Given the description of an element on the screen output the (x, y) to click on. 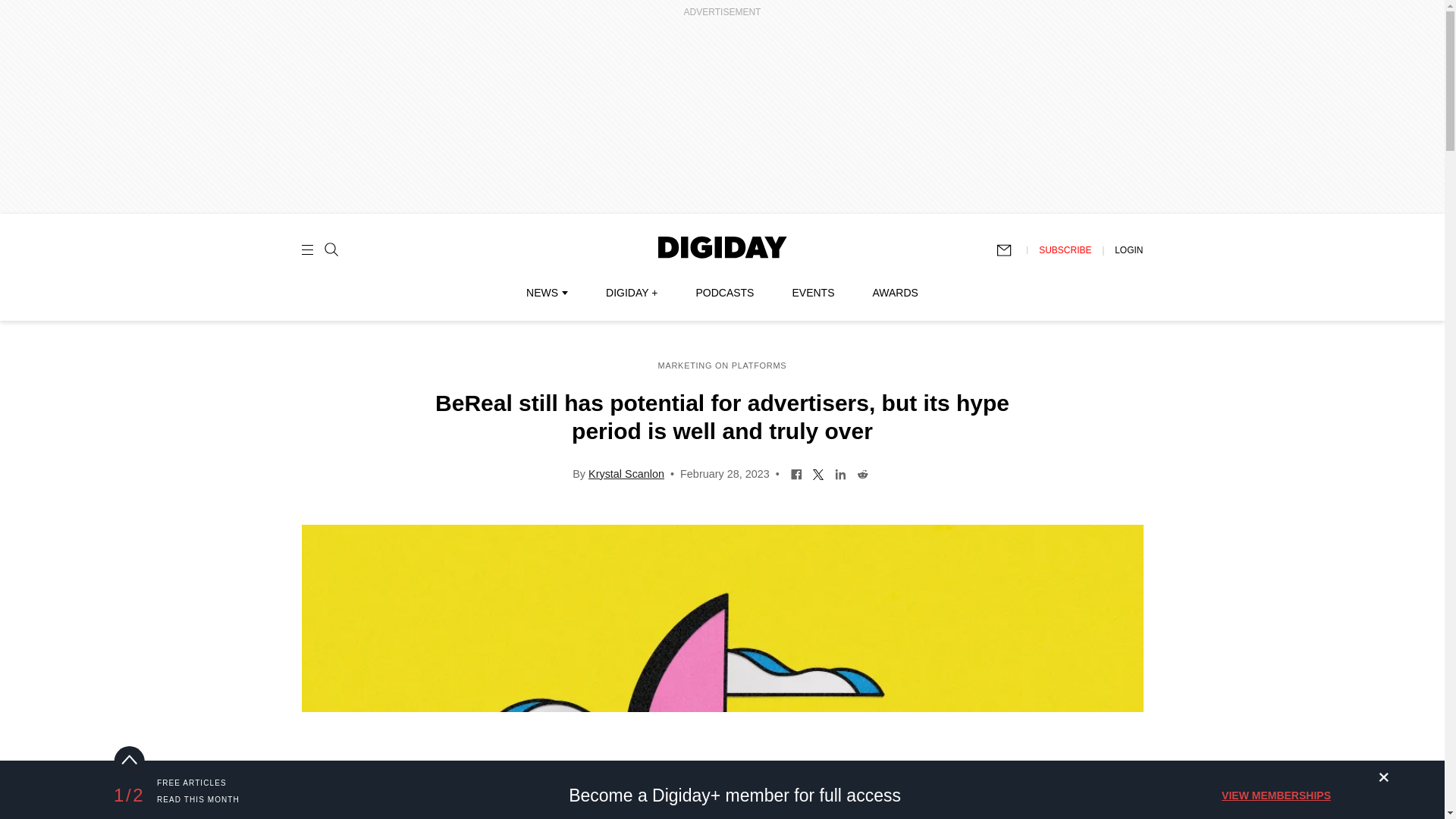
EVENTS (813, 292)
Subscribe (1010, 250)
SUBSCRIBE (1064, 249)
LOGIN (1128, 249)
PODCASTS (725, 292)
Share on LinkedIn (840, 472)
Share on Twitter (818, 472)
AWARDS (894, 292)
Share on Reddit (862, 472)
Share on Facebook (796, 472)
NEWS (546, 292)
